Given the description of an element on the screen output the (x, y) to click on. 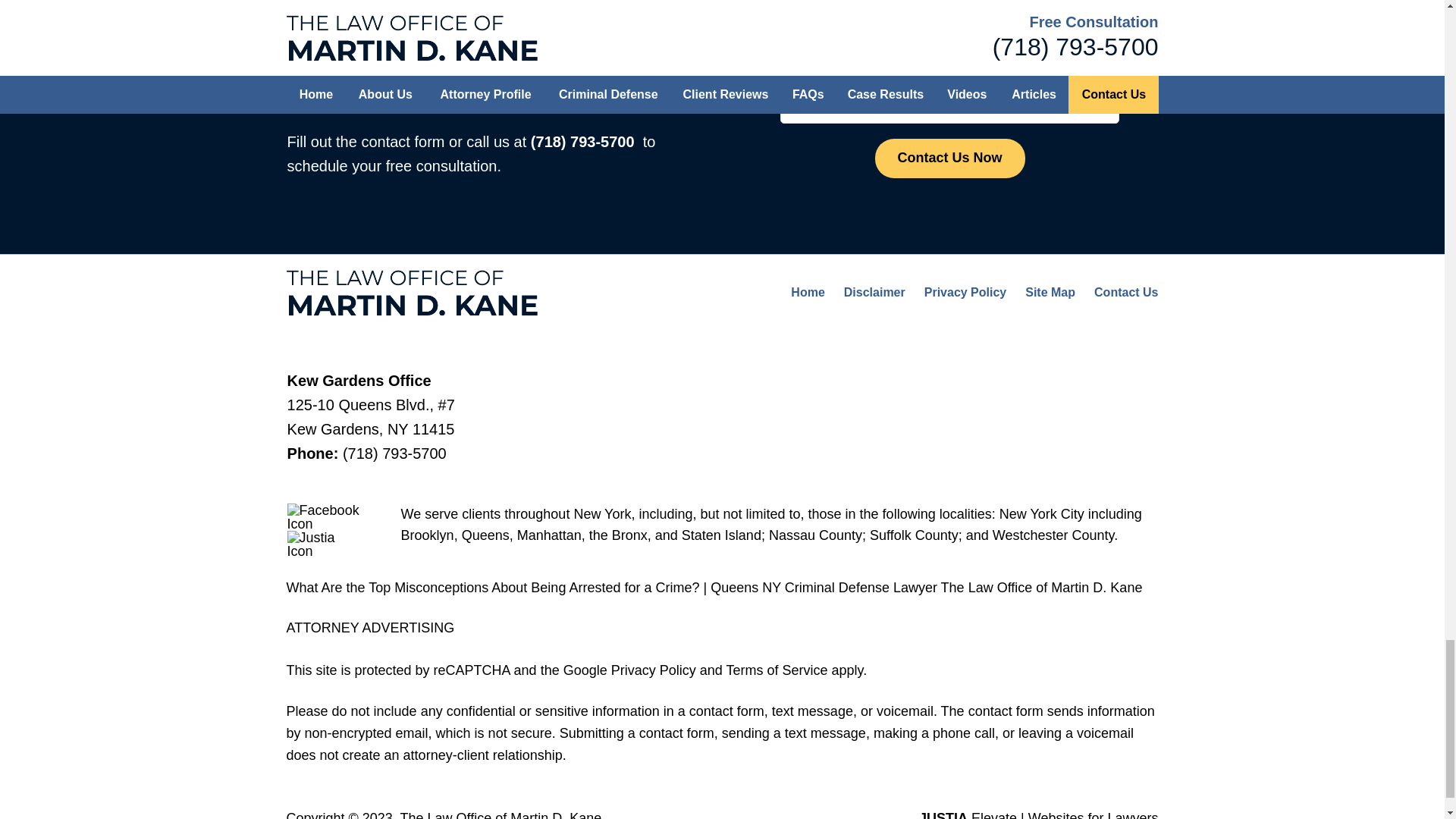
Home (807, 291)
Contact Us Now (950, 158)
Privacy Policy (965, 291)
Disclaimer (874, 291)
Justia (323, 543)
Facebook (323, 516)
Site Map (1050, 291)
